Given the description of an element on the screen output the (x, y) to click on. 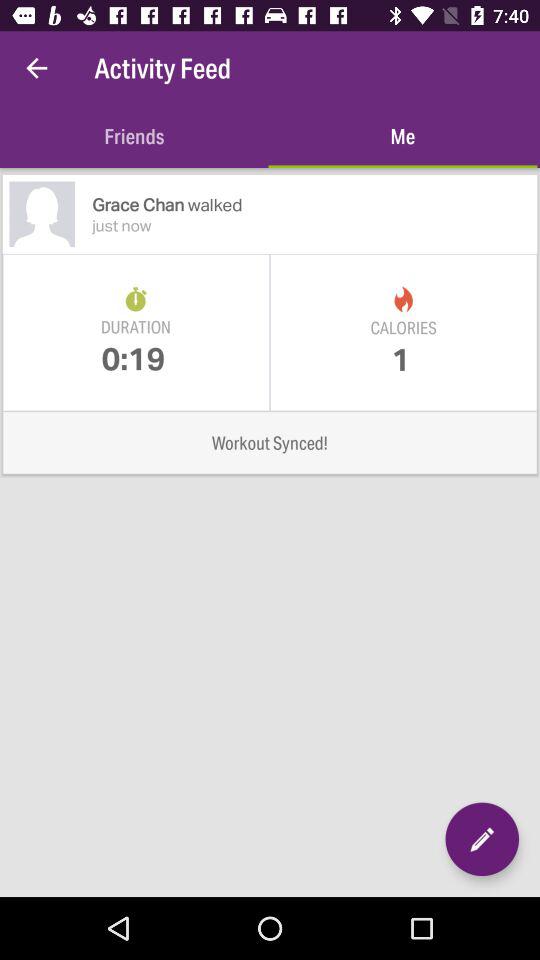
select grace chan walked (314, 204)
